Given the description of an element on the screen output the (x, y) to click on. 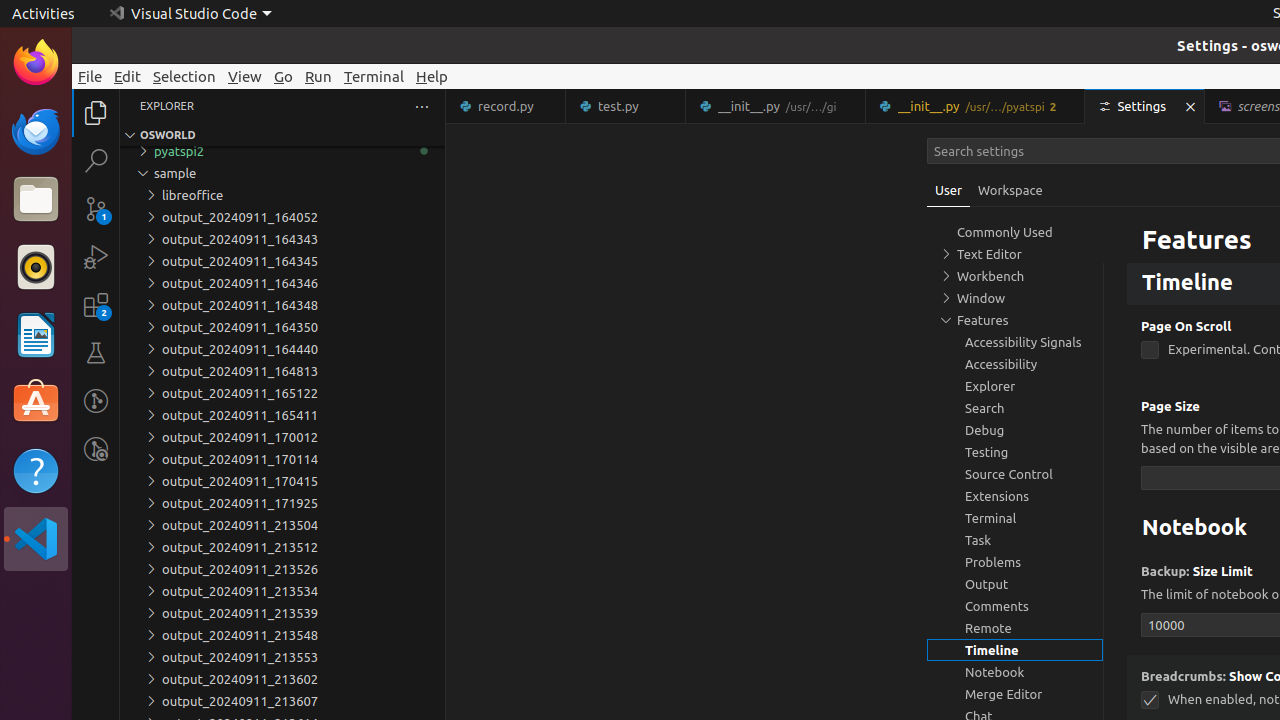
Commonly Used, group Element type: tree-item (1015, 232)
Testing, group Element type: tree-item (1015, 452)
output_20240911_170114 Element type: tree-item (282, 459)
remote.tunnels.access.preventSleep Element type: check-box (1150, 228)
